Given the description of an element on the screen output the (x, y) to click on. 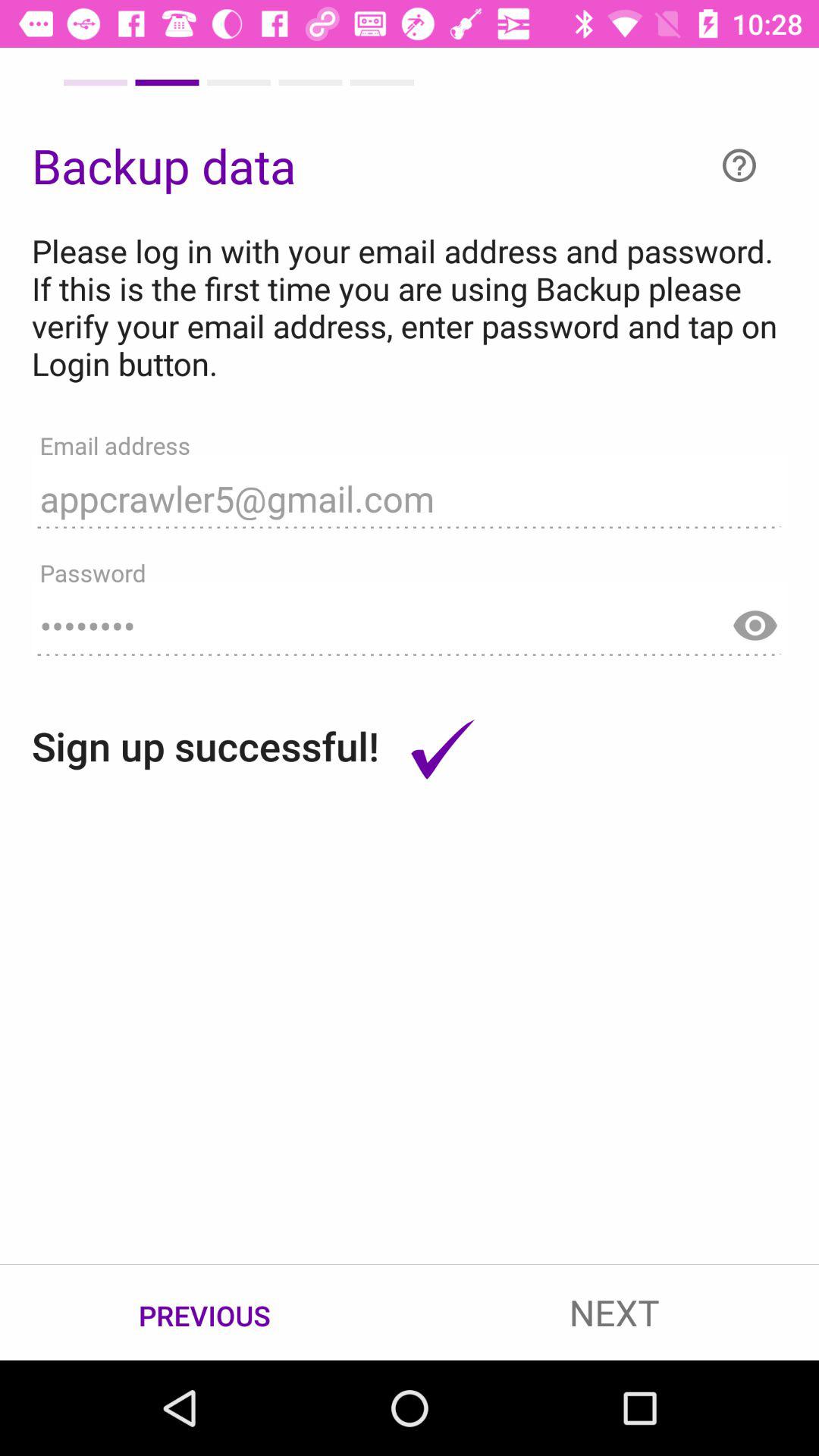
scroll to 12345678 item (409, 618)
